Given the description of an element on the screen output the (x, y) to click on. 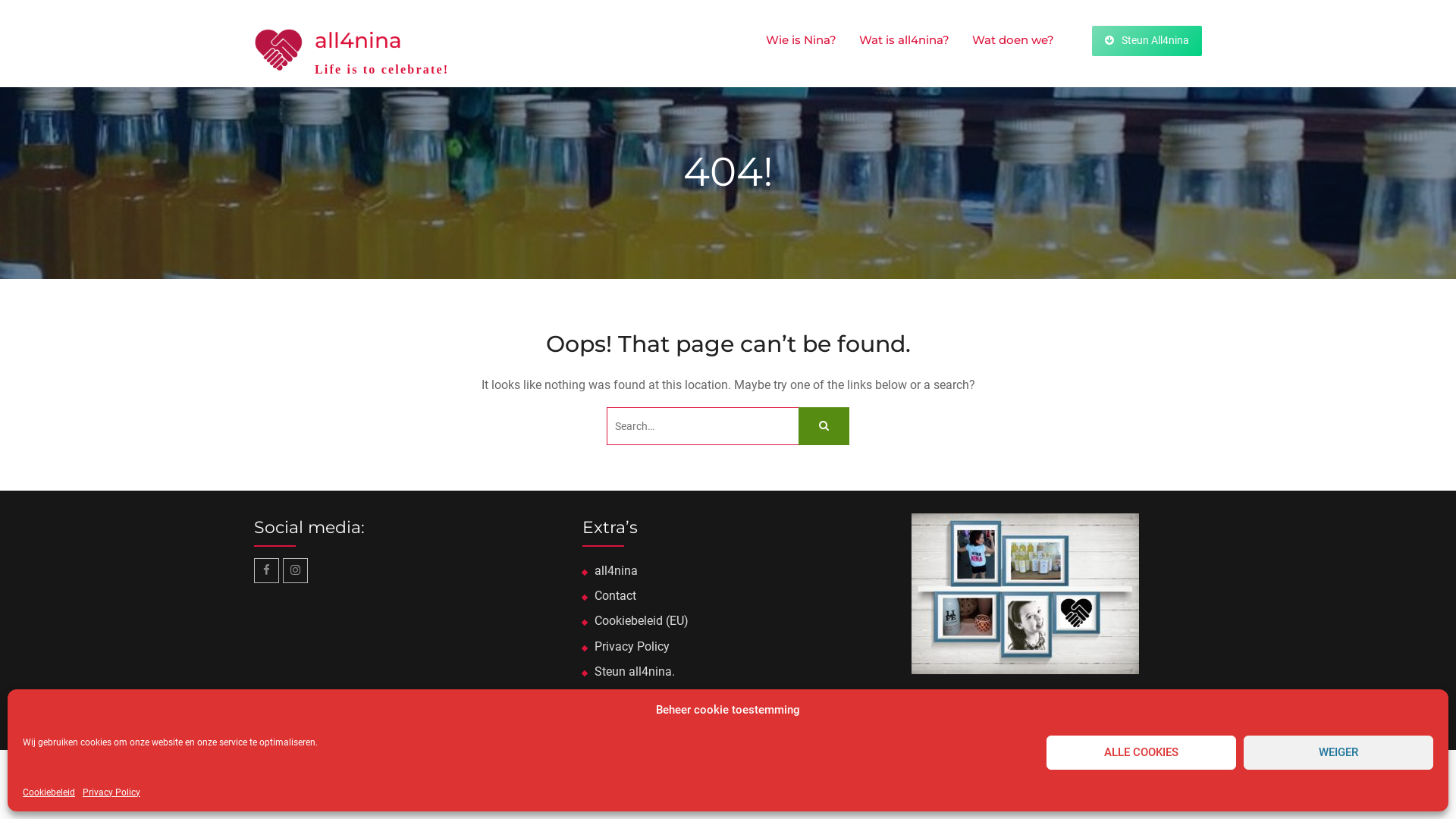
Steun All4nina Element type: text (1146, 40)
ALLE COOKIES Element type: text (1141, 752)
Wat is all4nina? Element type: text (903, 39)
Instagram Element type: text (294, 570)
Privacy Policy Element type: text (111, 792)
Cookiebeleid (EU) Element type: text (641, 620)
Facebook Element type: text (266, 570)
Wie is Nina? Element type: text (800, 39)
Steun all4nina. Element type: text (634, 671)
Contact Element type: text (615, 595)
Skip to content Element type: text (0, 0)
Cookiebeleid Element type: text (48, 792)
Privacy Policy Element type: text (631, 646)
all4nina Element type: text (357, 40)
all4nina Element type: text (615, 570)
WEIGER Element type: text (1338, 752)
Search for: Element type: hover (727, 426)
Wat doen we? Element type: text (1012, 39)
